Given the description of an element on the screen output the (x, y) to click on. 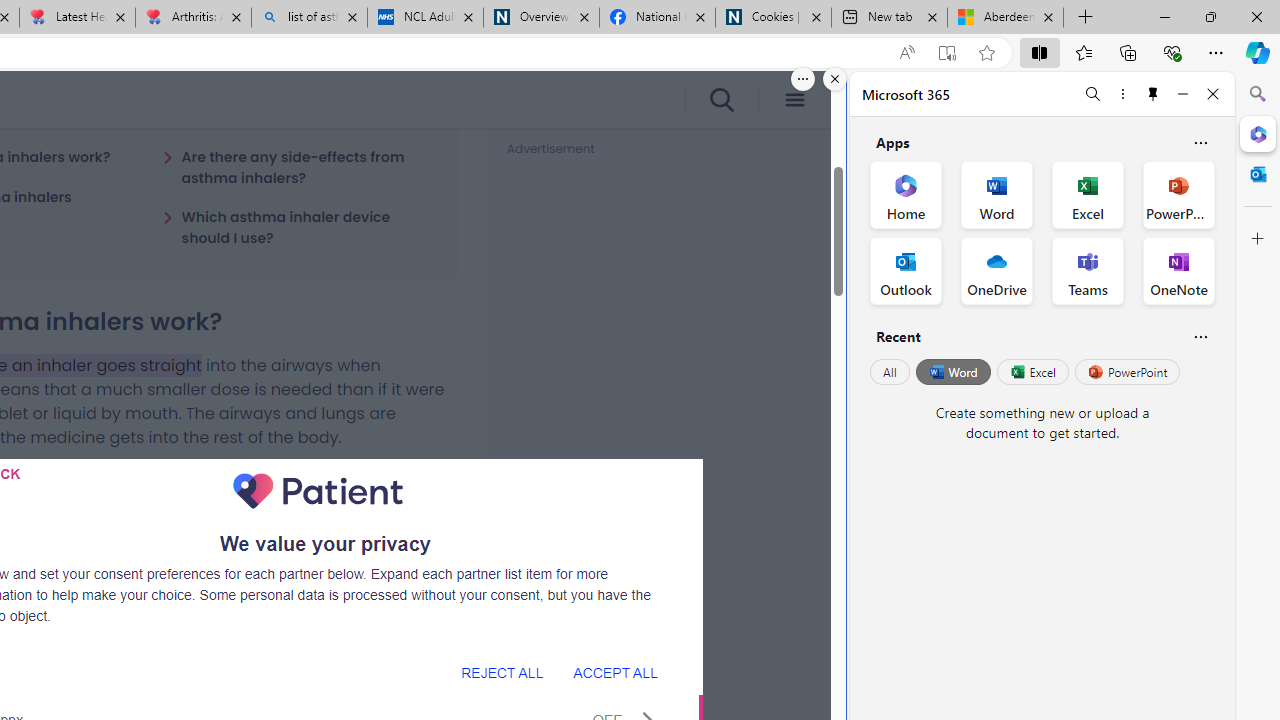
Excel (1031, 372)
ACCEPT ALL (615, 672)
All (890, 372)
OneDrive Office App (996, 270)
More options. (803, 79)
Word Office App (996, 194)
Close split screen. (835, 79)
Is this helpful? (1200, 336)
PowerPoint (1127, 372)
REJECT ALL (502, 672)
